Given the description of an element on the screen output the (x, y) to click on. 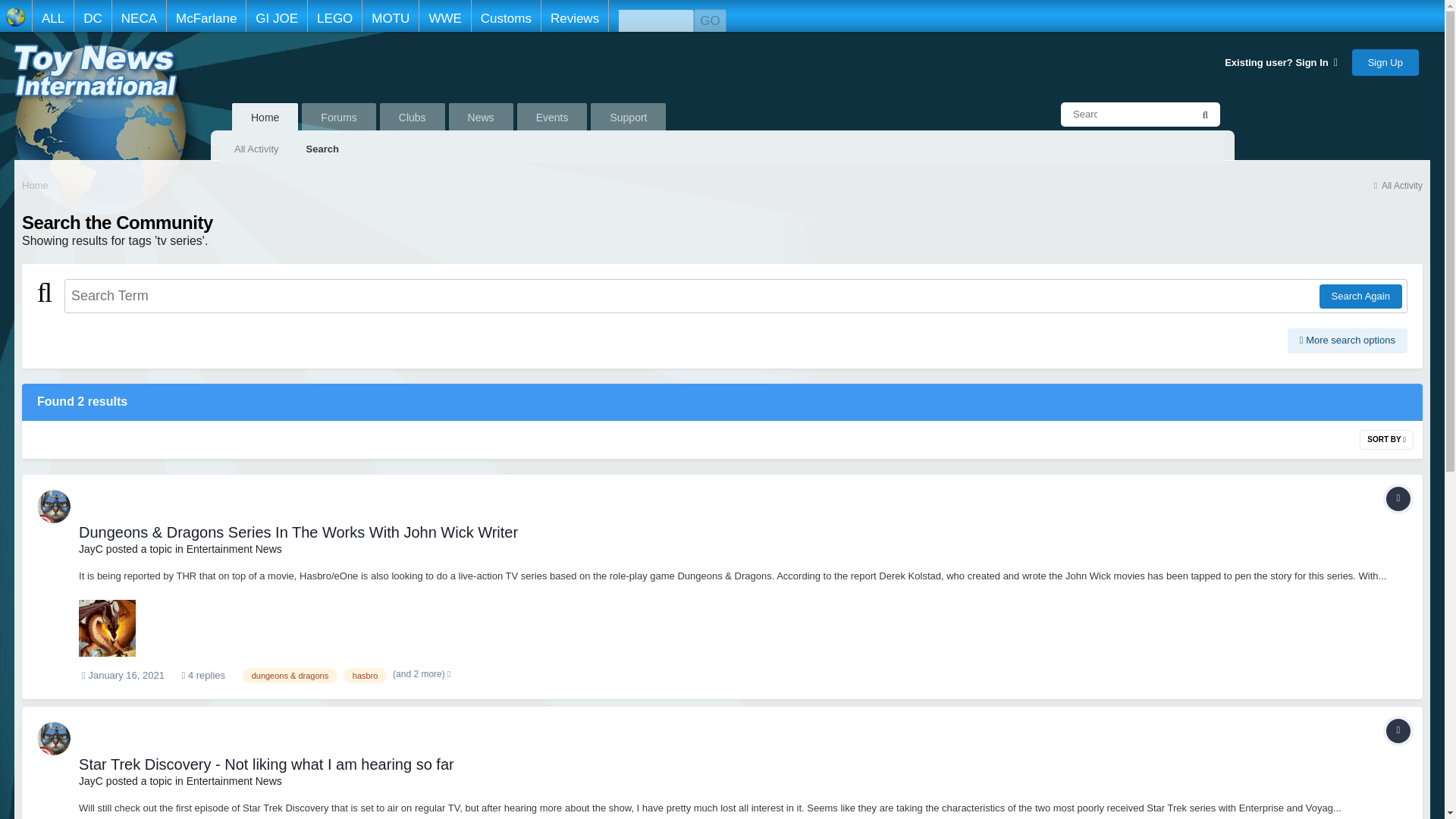
Search Again (1360, 296)
LEGO (334, 15)
Home (34, 184)
NECA (138, 15)
All Activity (256, 147)
Existing user? Sign In   (1281, 61)
All Activity (1396, 185)
Clubs (412, 117)
Sign Up (1385, 61)
Go to JayC's profile (53, 738)
News (480, 117)
GO (709, 21)
GI JOE (276, 15)
Search (322, 147)
Go to JayC's profile (90, 548)
